Given the description of an element on the screen output the (x, y) to click on. 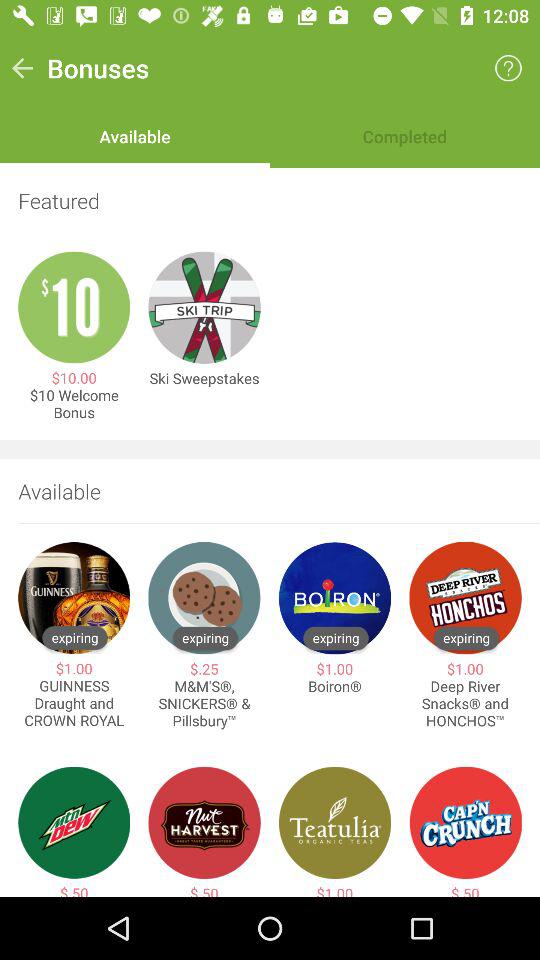
launch the item below $.25 (204, 704)
